Given the description of an element on the screen output the (x, y) to click on. 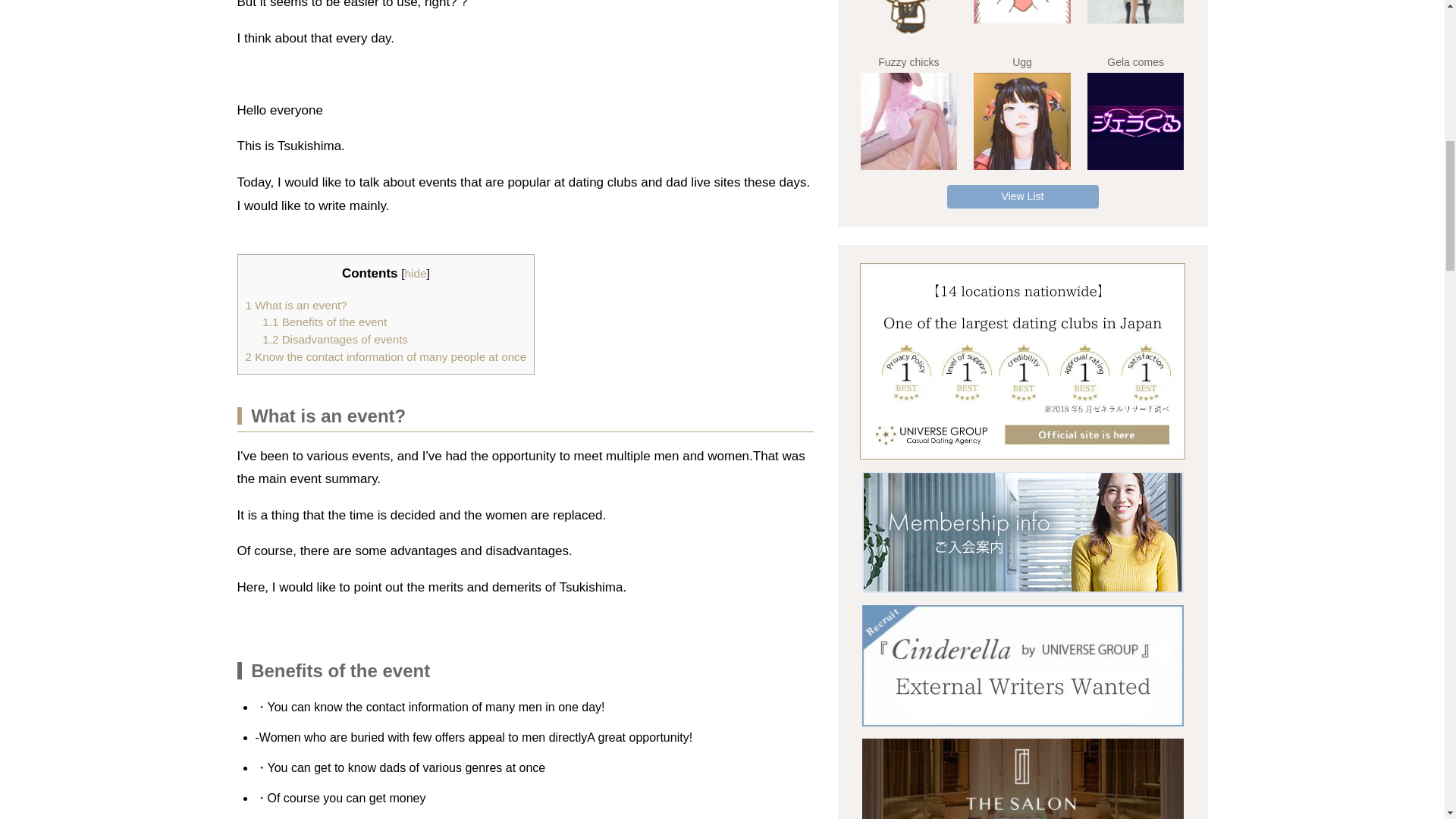
Rinko (1022, 11)
1 What is an event? (296, 305)
Ugg (1022, 120)
Gela comes (1136, 120)
Miki Fujisaki (1136, 11)
hide (415, 273)
1.1 Benefits of the event (324, 321)
2 Know the contact information of many people at once (386, 356)
Love Hotel Staff Ueno (908, 19)
1.2 Disadvantages of events (334, 338)
Fuzzy chicks (908, 120)
